Given the description of an element on the screen output the (x, y) to click on. 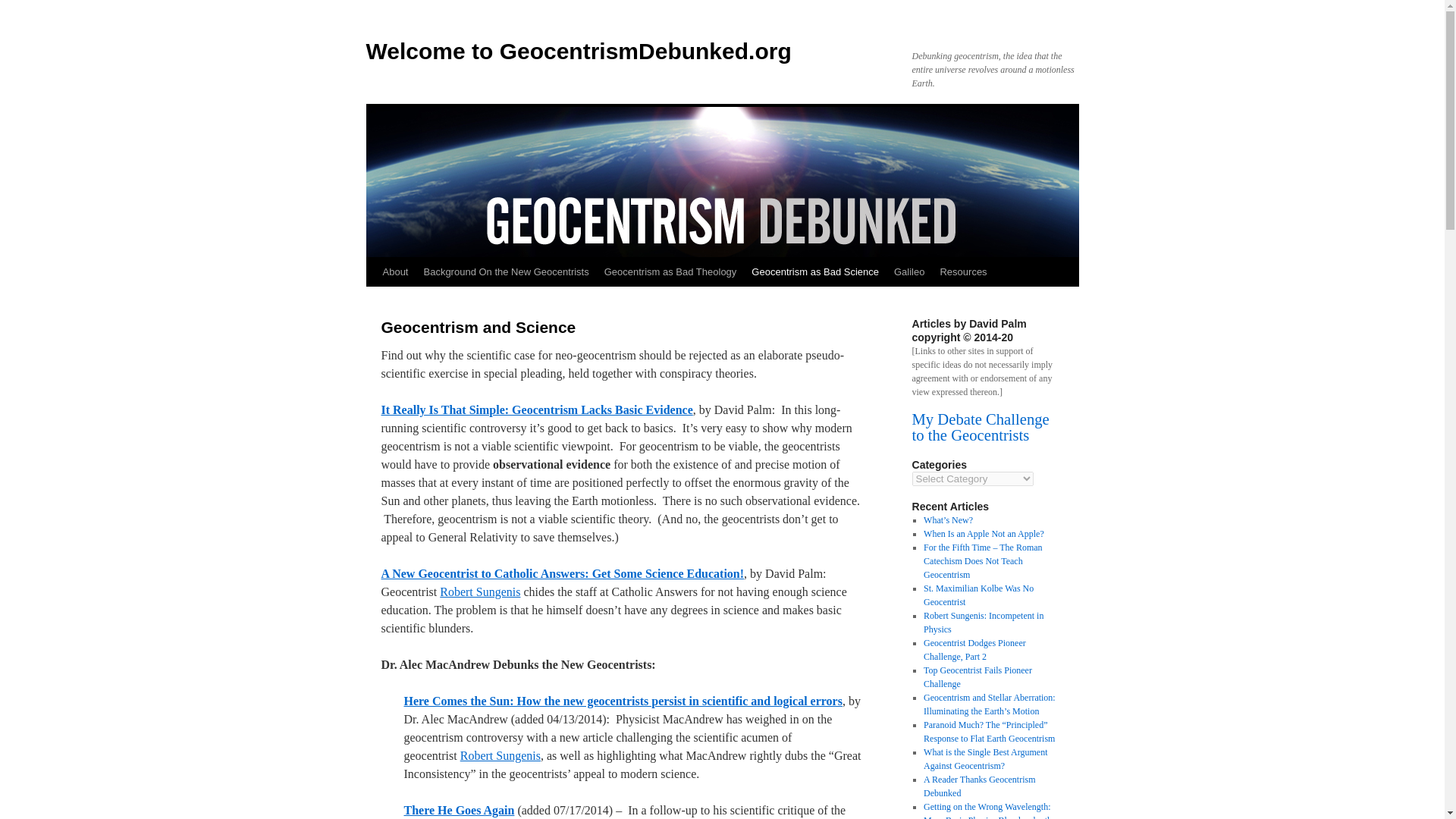
Background On the New Geocentrists (504, 271)
Welcome to GeocentrismDebunked.org (577, 50)
There He Goes Again (458, 809)
Galileo (908, 271)
Resources (962, 271)
About (394, 271)
Robert Sungenis (479, 591)
My Debate Challenge to the Geocentrists (979, 427)
Robert Sungenis: Incompetent in Physics (983, 622)
Geocentrist Dodges Pioneer Challenge, Part 2 (974, 649)
Geocentrism as Bad Theology (670, 271)
St. Maximilian Kolbe Was No Geocentrist (978, 595)
There He Goes Again: Alec MacAndrew Responds to Sungenis (458, 809)
